Given the description of an element on the screen output the (x, y) to click on. 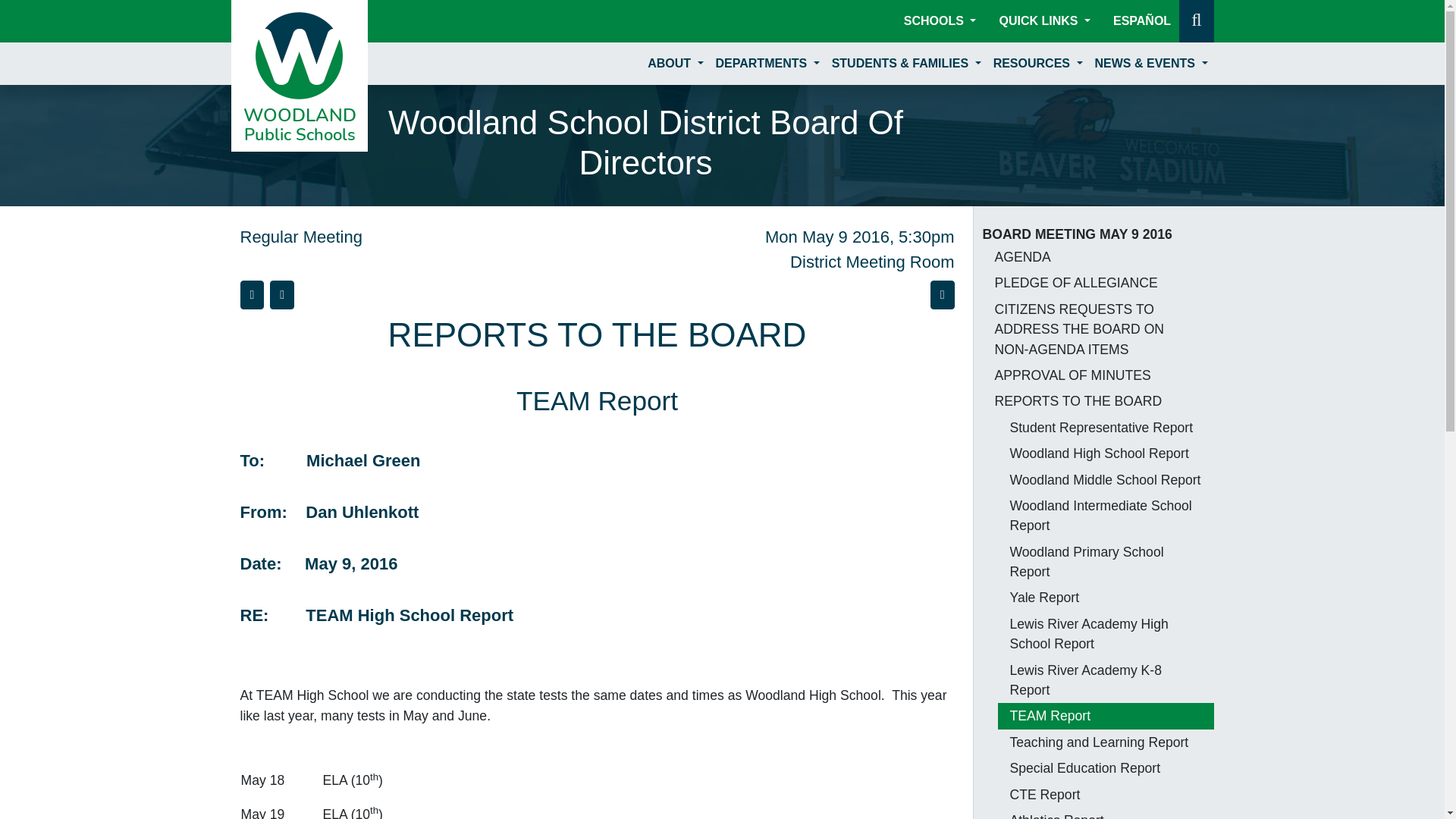
ABOUT (675, 63)
SCHOOLS (940, 20)
QUICK LINKS (1044, 20)
